Given the description of an element on the screen output the (x, y) to click on. 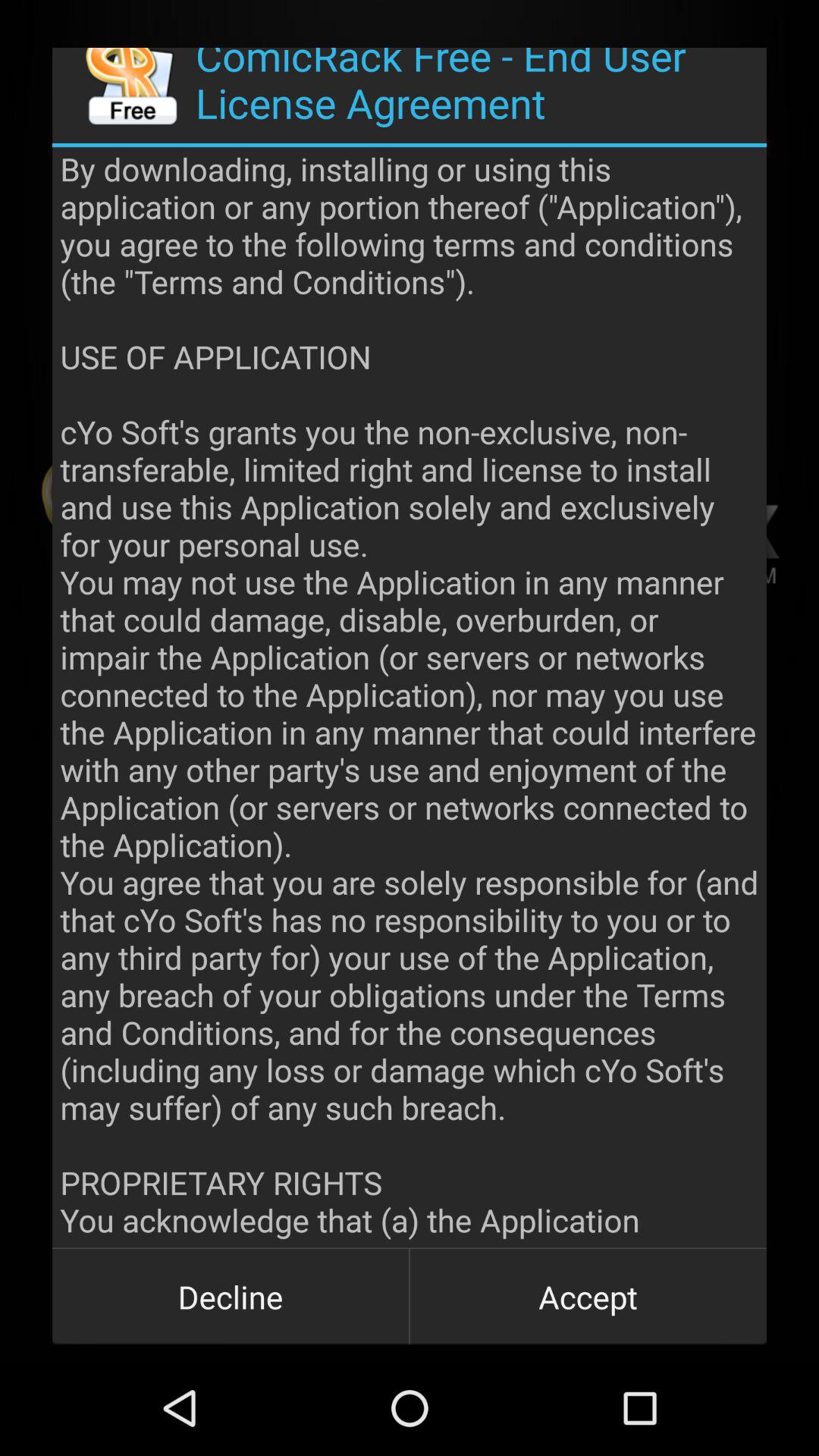
launch the icon above the decline button (409, 697)
